Given the description of an element on the screen output the (x, y) to click on. 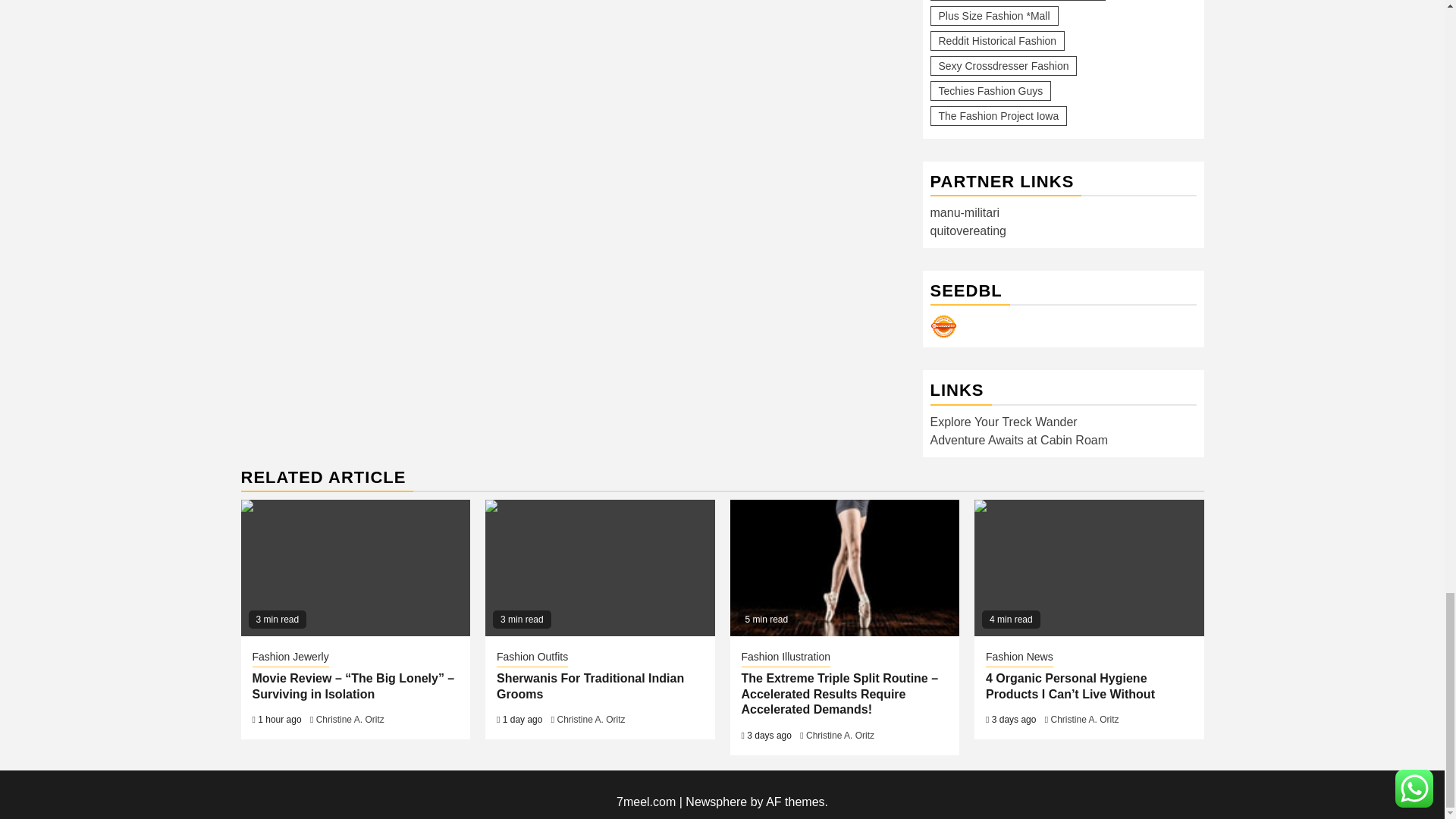
Safety Tips for Shopping Online (844, 567)
Seedbacklink (943, 325)
Sherwanis For Traditional Indian Grooms (599, 567)
